Given the description of an element on the screen output the (x, y) to click on. 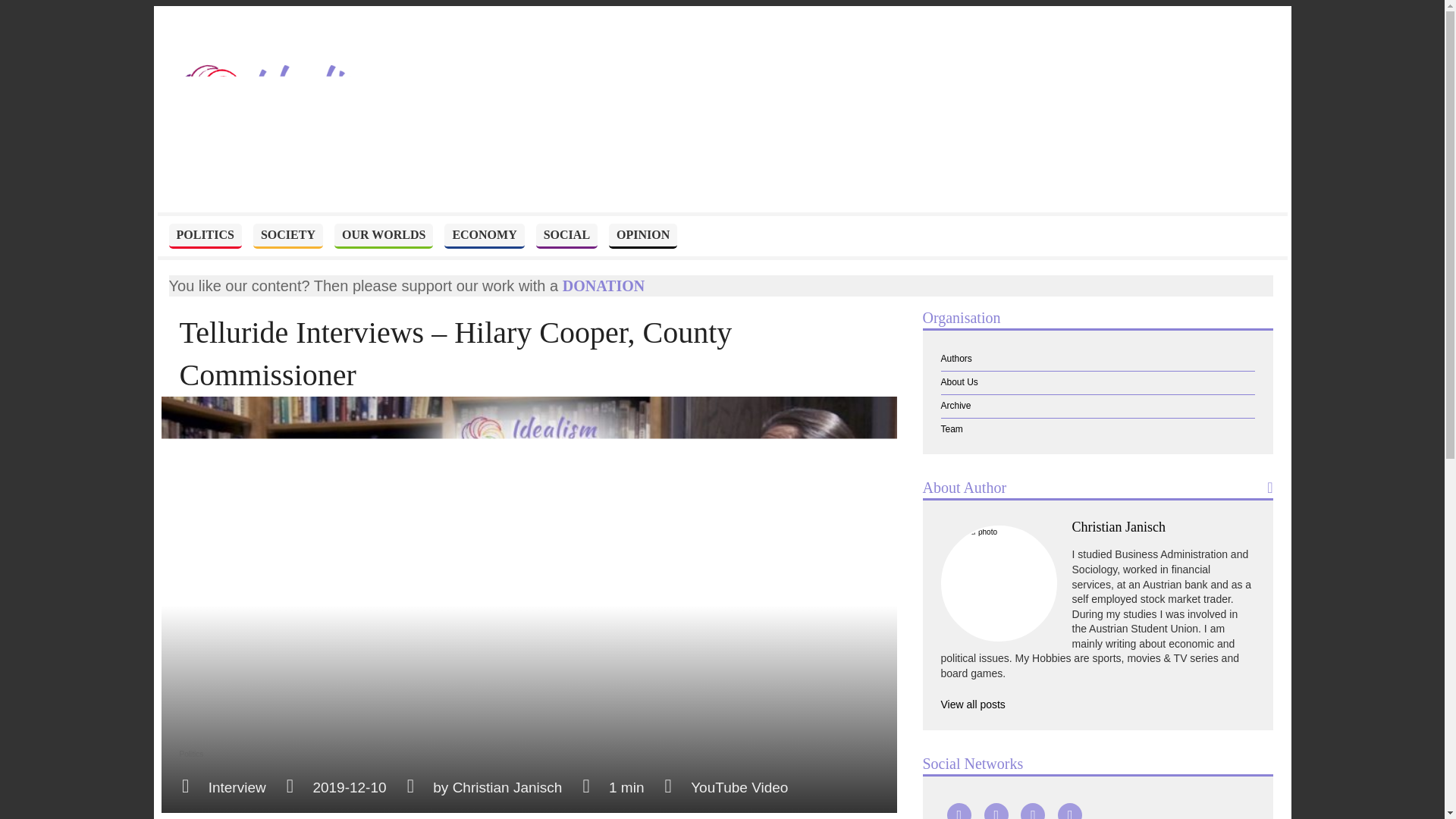
Twitter (1032, 811)
About Us (1096, 382)
Instagram (1069, 811)
Team (1096, 429)
Christian Janisch (507, 787)
Authors (1096, 358)
sender.fm (1106, 811)
Christian Janisch (1118, 526)
OUR WORLDS (383, 235)
Youtube (959, 811)
